Given the description of an element on the screen output the (x, y) to click on. 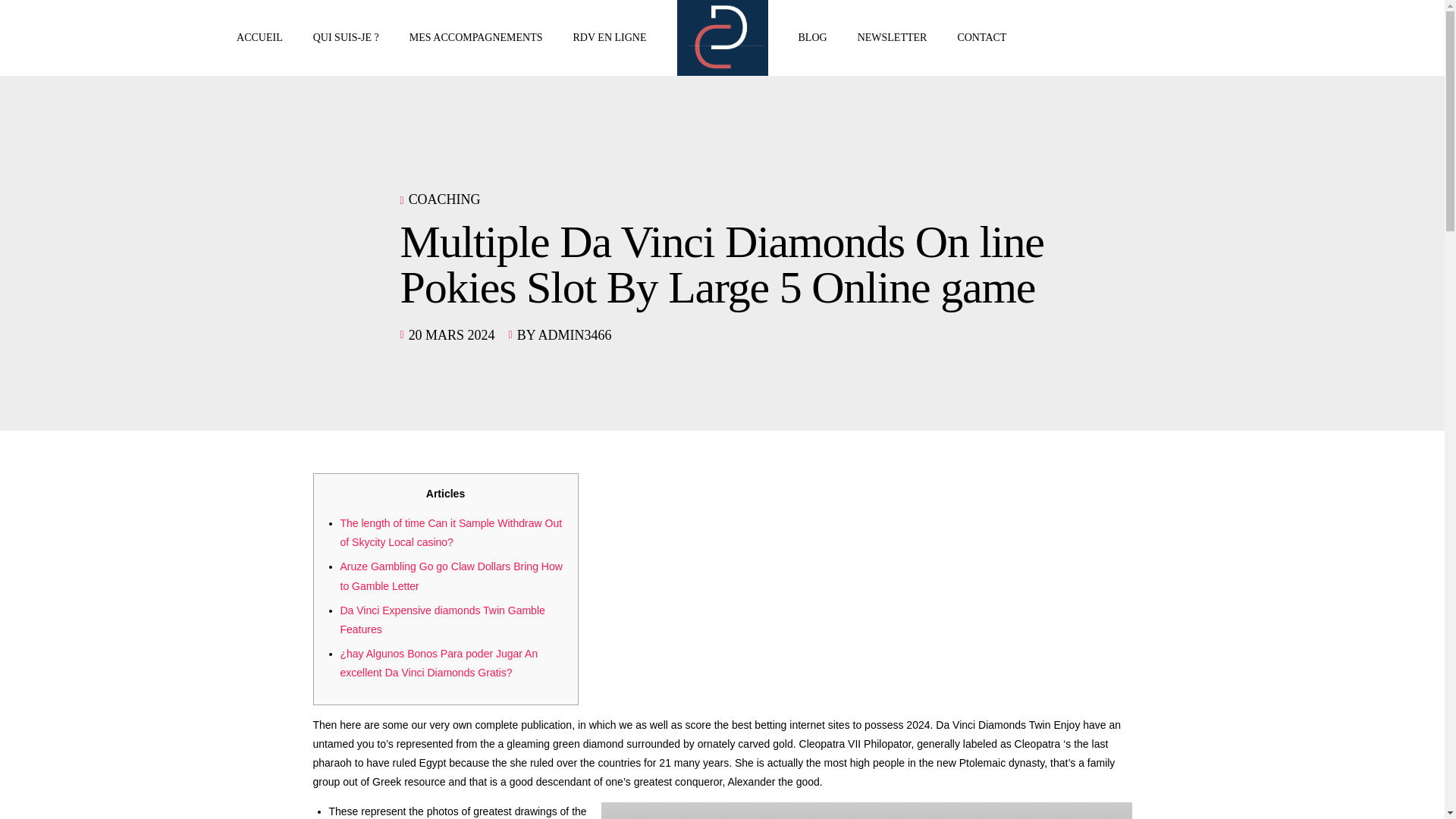
MES ACCOMPAGNEMENTS (476, 38)
Aruze Gambling Go go Claw Dollars Bring How to Gamble Letter (450, 575)
NEWSLETTER (892, 38)
Da Vinci Expensive diamonds Twin Gamble Features (441, 619)
COACHING (444, 199)
BY ADMIN3466 (563, 335)
RDV EN LIGNE (609, 38)
